Given the description of an element on the screen output the (x, y) to click on. 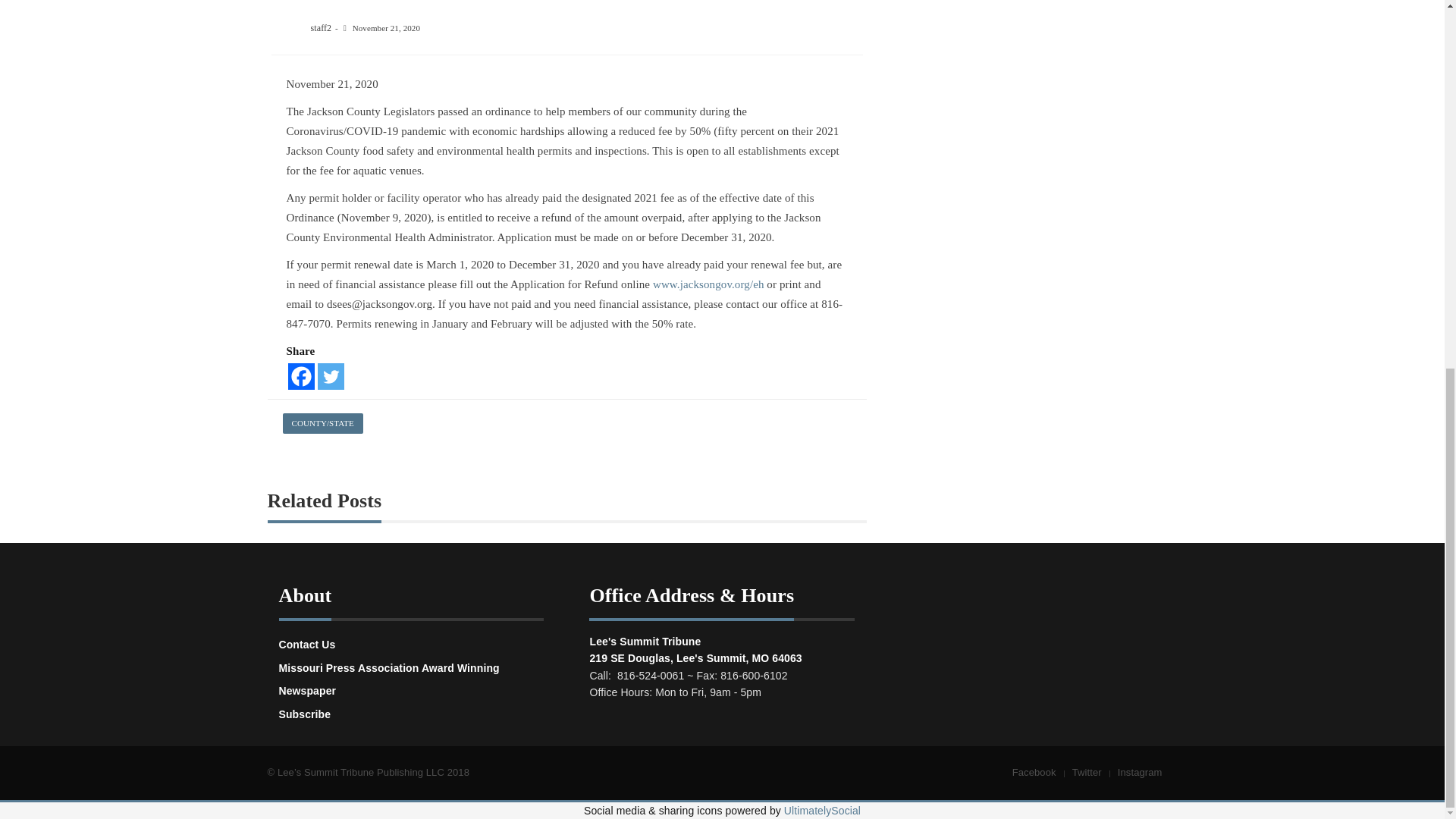
Twitter (330, 376)
Facebook (301, 376)
staff2 (321, 27)
